Given the description of an element on the screen output the (x, y) to click on. 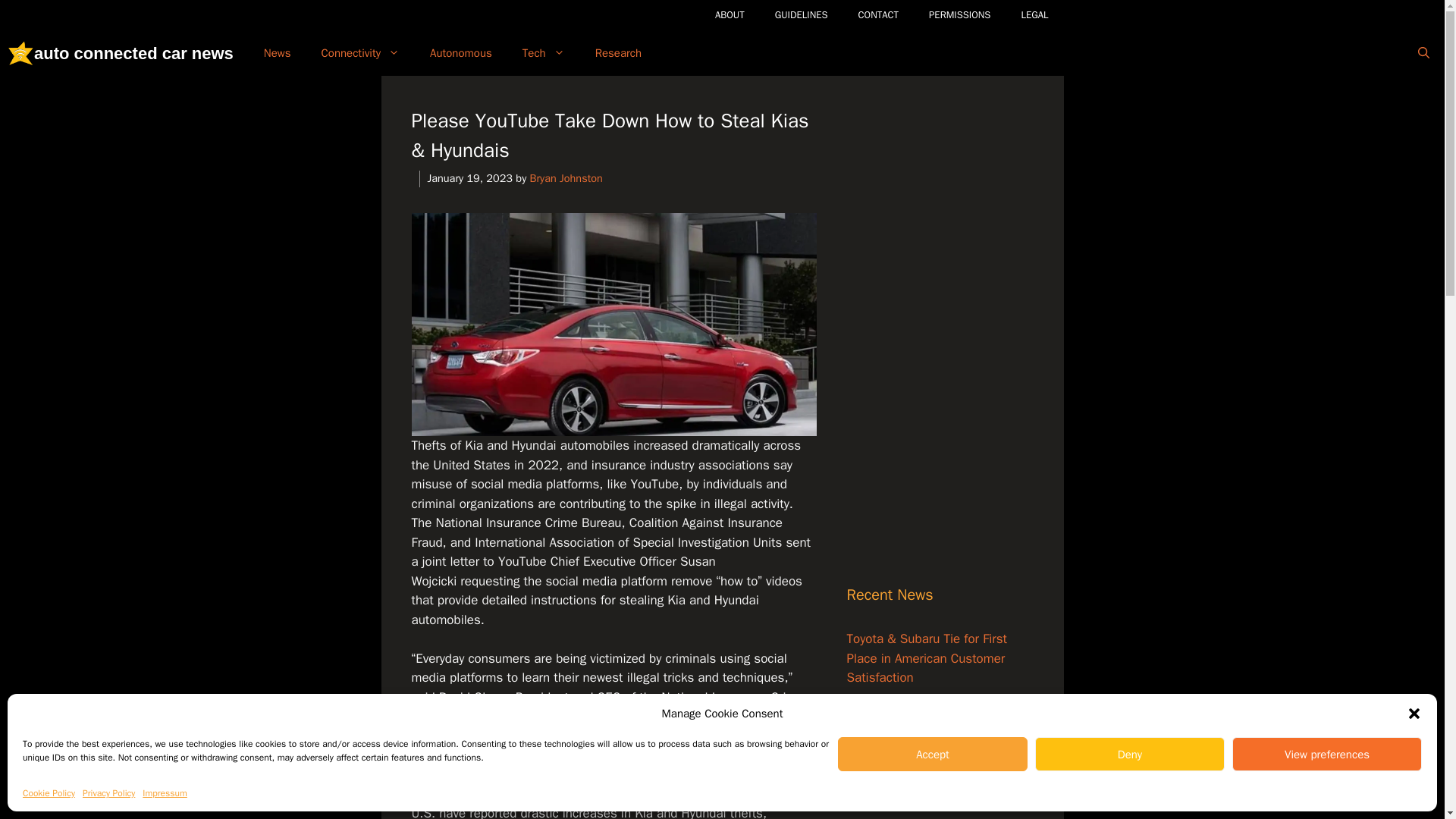
Permsissions Requests (960, 15)
ABOUT (730, 15)
auto connected car news (20, 52)
View preferences (1326, 754)
Deny (1129, 754)
LEGAL (1034, 15)
Connected Car Connections (359, 53)
GUIDELINES (801, 15)
Cookie Policy (49, 793)
CONTACT (878, 15)
